Given the description of an element on the screen output the (x, y) to click on. 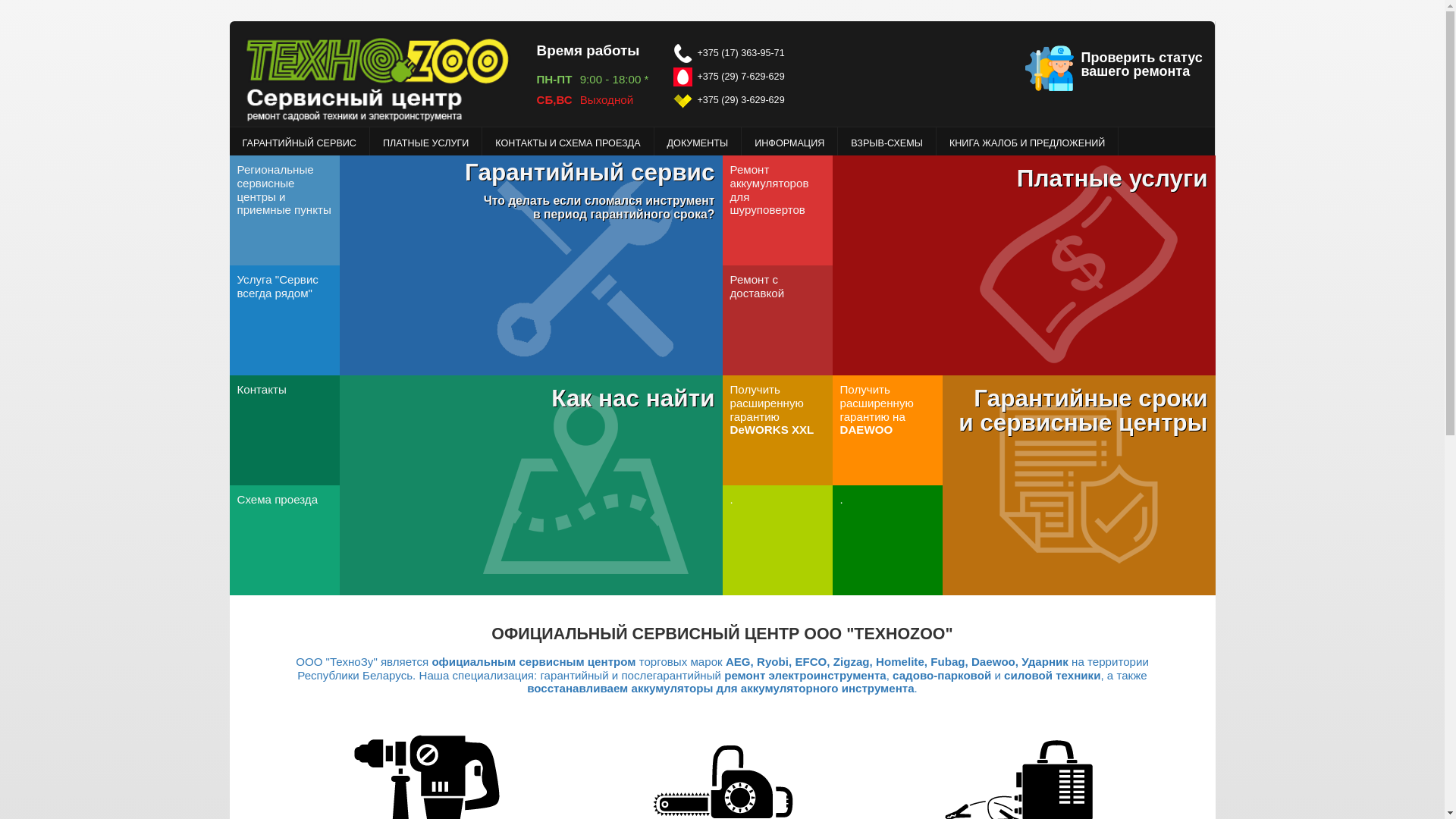
. Element type: text (730, 498)
. Element type: text (841, 498)
